Given the description of an element on the screen output the (x, y) to click on. 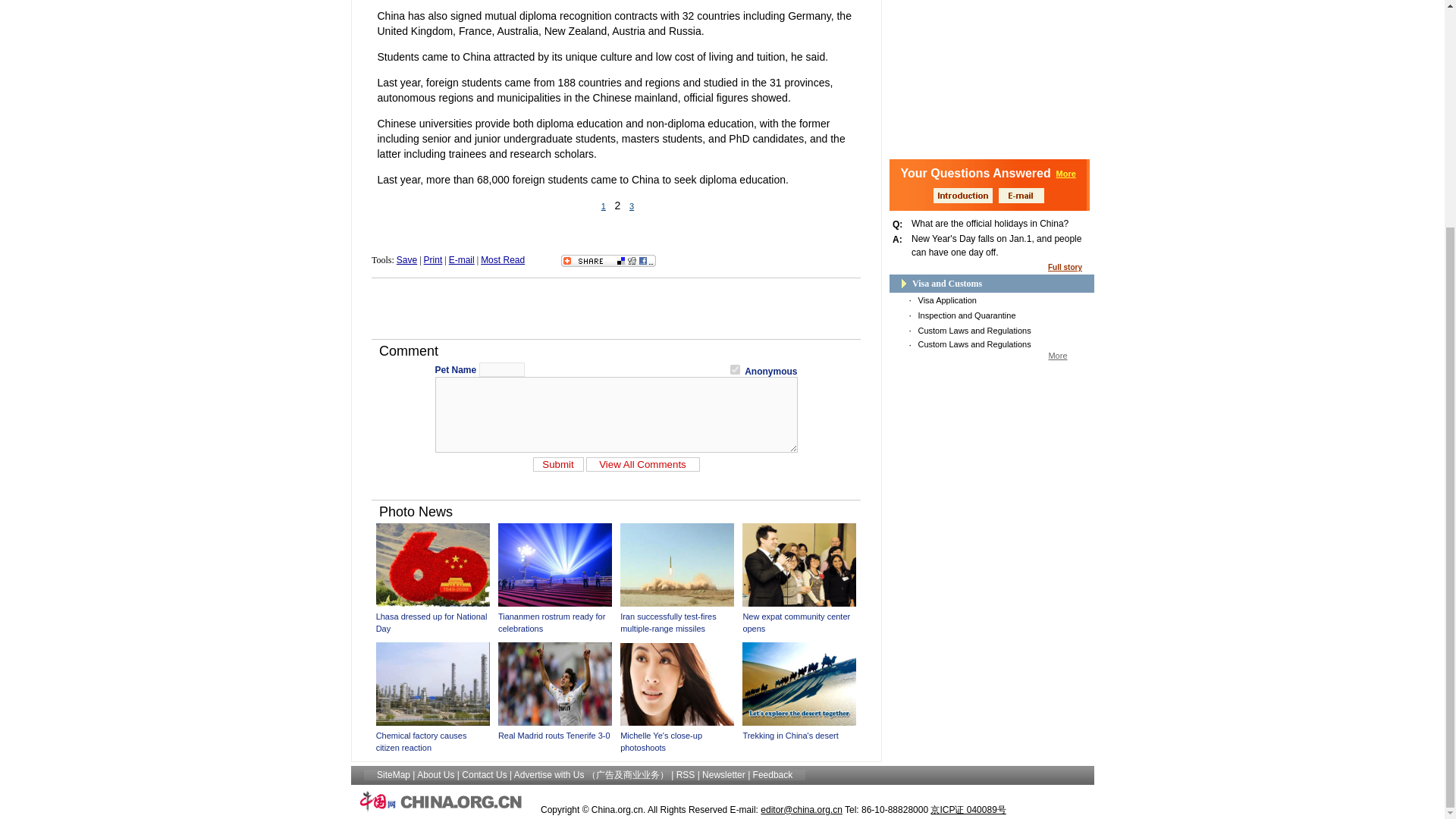
Submit (557, 464)
View All Comments (641, 464)
Advertisement (991, 70)
1 (734, 369)
Print (432, 259)
Save (406, 259)
E-mail (461, 259)
Most Read (502, 259)
Advertisement (615, 308)
